Given the description of an element on the screen output the (x, y) to click on. 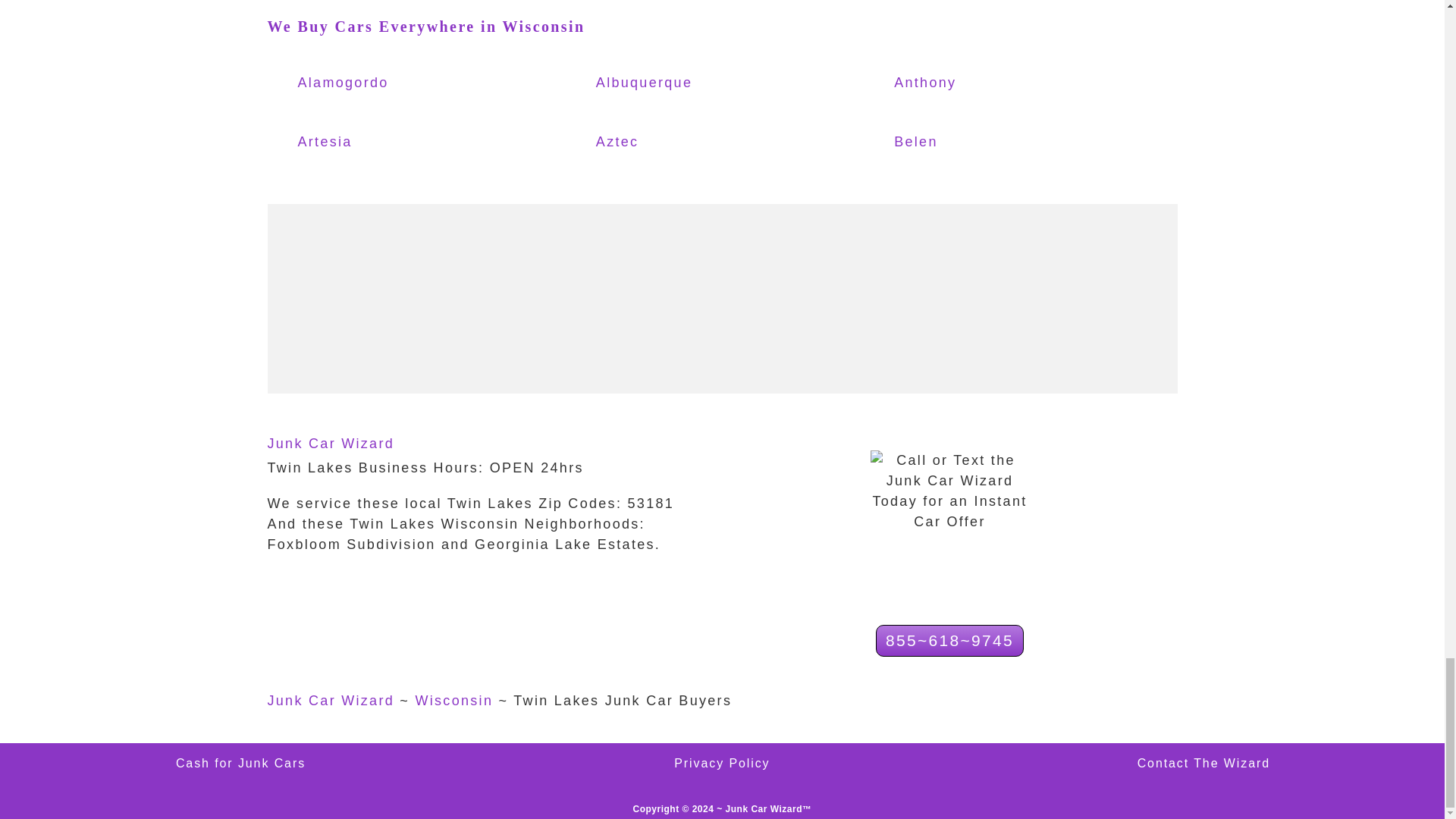
We Buy Junk Cars in Alamogordo, NM (363, 82)
Junk Car Wizard (330, 443)
We Buy Junk Cars in Belen, NM (960, 142)
We Buy Junk Cars in Artesia, NM (363, 142)
Alamogordo (363, 82)
Artesia (363, 142)
Belen (960, 142)
Aztec (662, 142)
Privacy Policy (722, 762)
Cash for Junk Cars (240, 762)
Contact The Wizard (1203, 762)
Albuquerque (662, 82)
We Buy Cars Everywhere in Wisconsin (425, 26)
We Buy Junk Cars in Aztec, NM (662, 142)
